Given the description of an element on the screen output the (x, y) to click on. 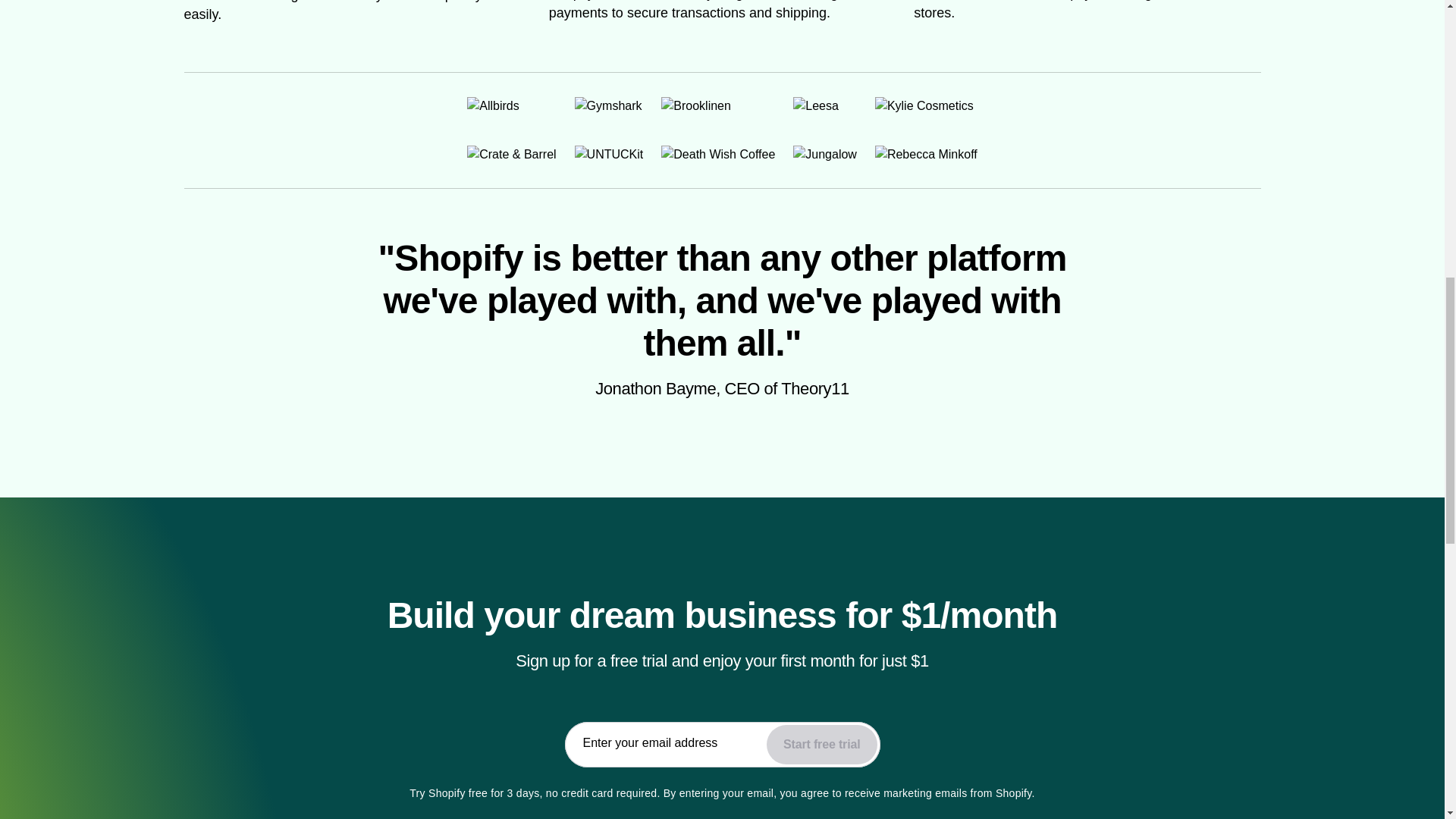
Start free trial (821, 744)
